Given the description of an element on the screen output the (x, y) to click on. 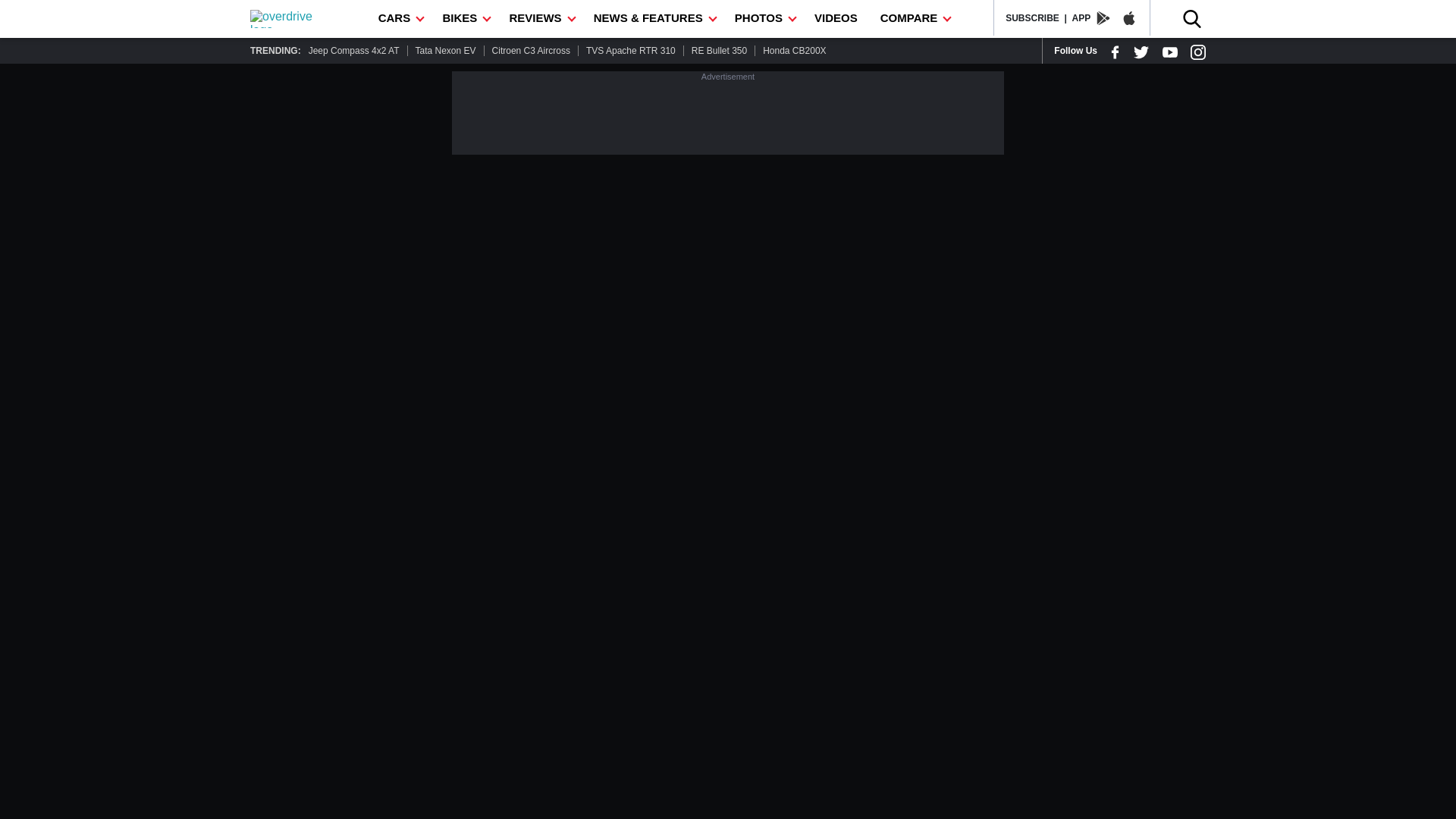
PHOTOS (763, 18)
BIKES (463, 18)
CARS (398, 18)
REVIEWS (538, 18)
